Given the description of an element on the screen output the (x, y) to click on. 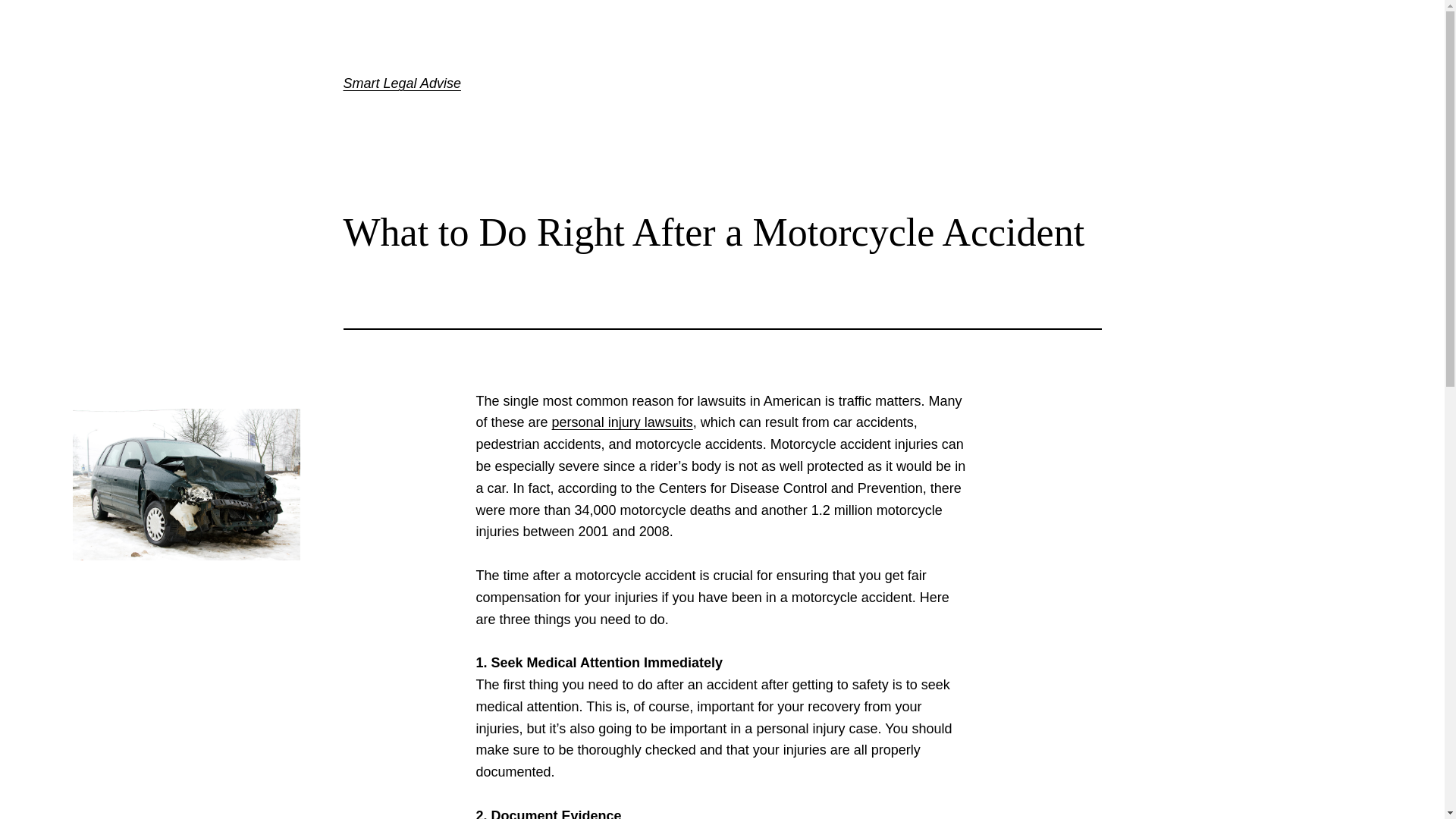
Slip and fall accidents illinois (622, 421)
personal injury lawsuits (622, 421)
Smart Legal Advise (401, 83)
